Given the description of an element on the screen output the (x, y) to click on. 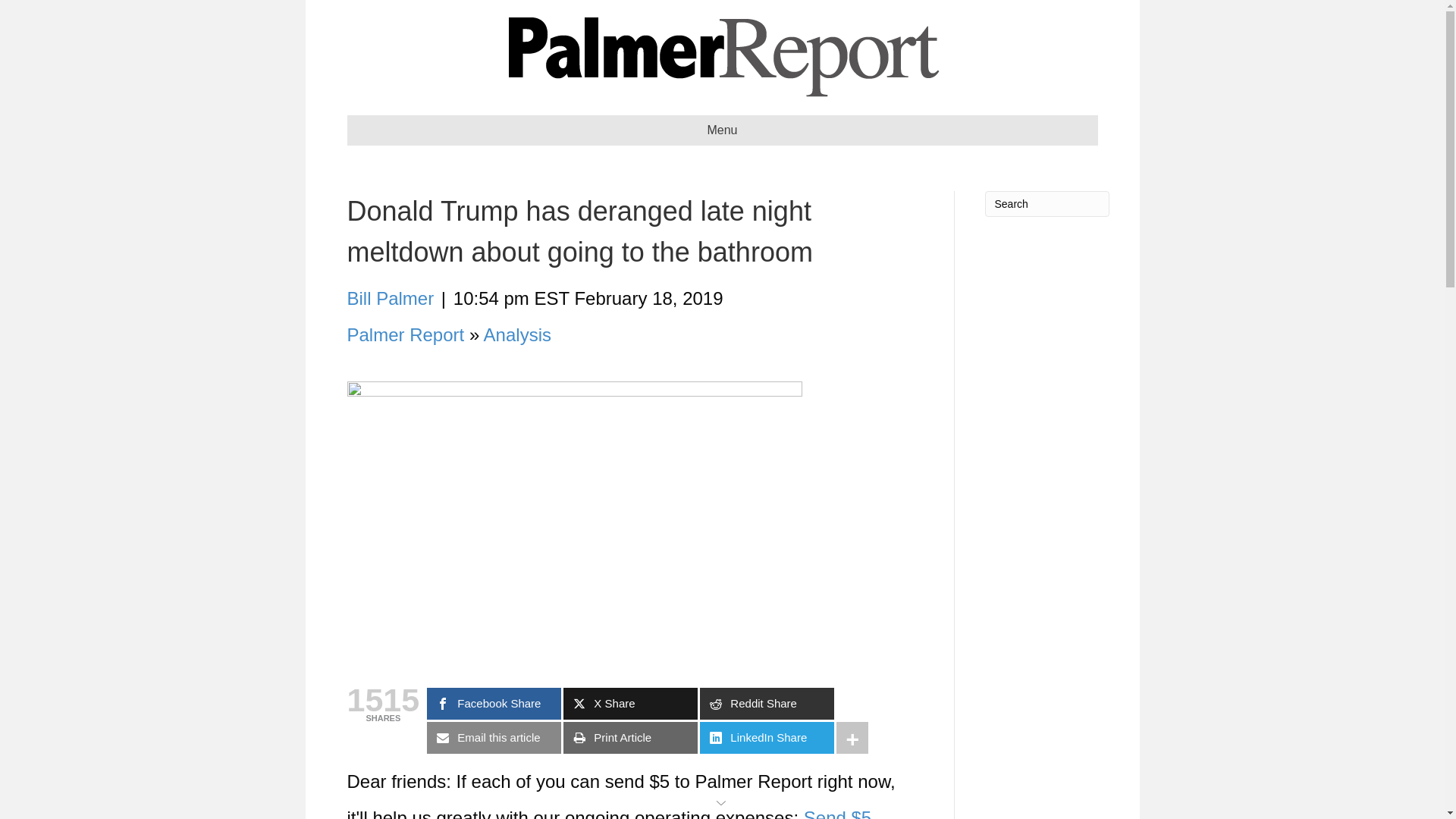
Print Article (630, 737)
Posts by Bill Palmer (390, 298)
Search (1046, 203)
Ad.Plus Advertising (722, 801)
LinkedIn Share (767, 737)
Bill Palmer (390, 298)
Search (1046, 203)
X Share (630, 703)
Menu (722, 130)
Type and press Enter to search. (1046, 203)
